Given the description of an element on the screen output the (x, y) to click on. 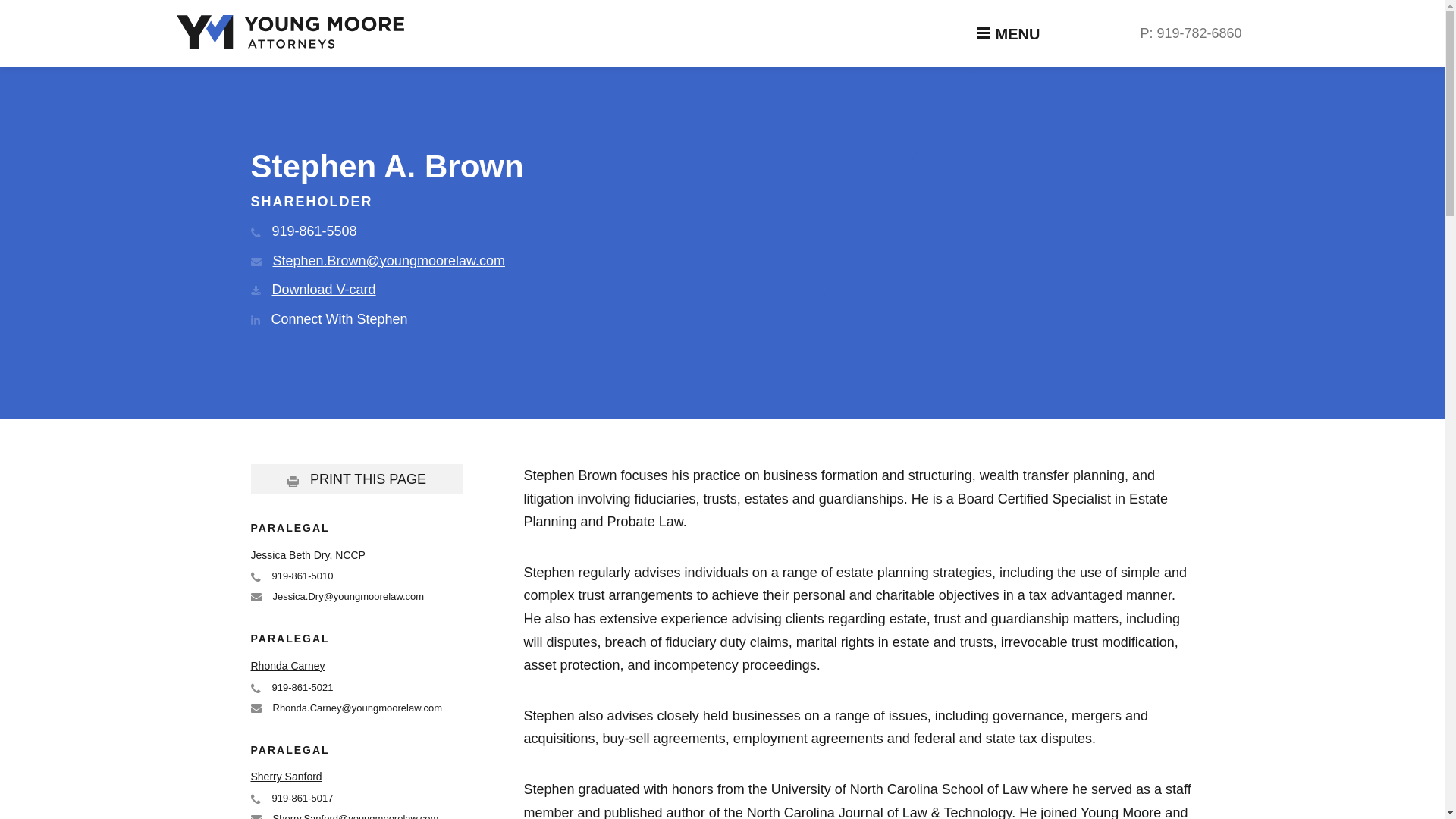
LinkedIn (254, 319)
Phone (255, 798)
Download V-card (312, 289)
Email (255, 596)
Email (255, 816)
Phone (255, 232)
PRINT THIS PAGE (356, 479)
Jessica Beth Dry, NCCP (307, 554)
Sherry Sanford (285, 776)
